Given the description of an element on the screen output the (x, y) to click on. 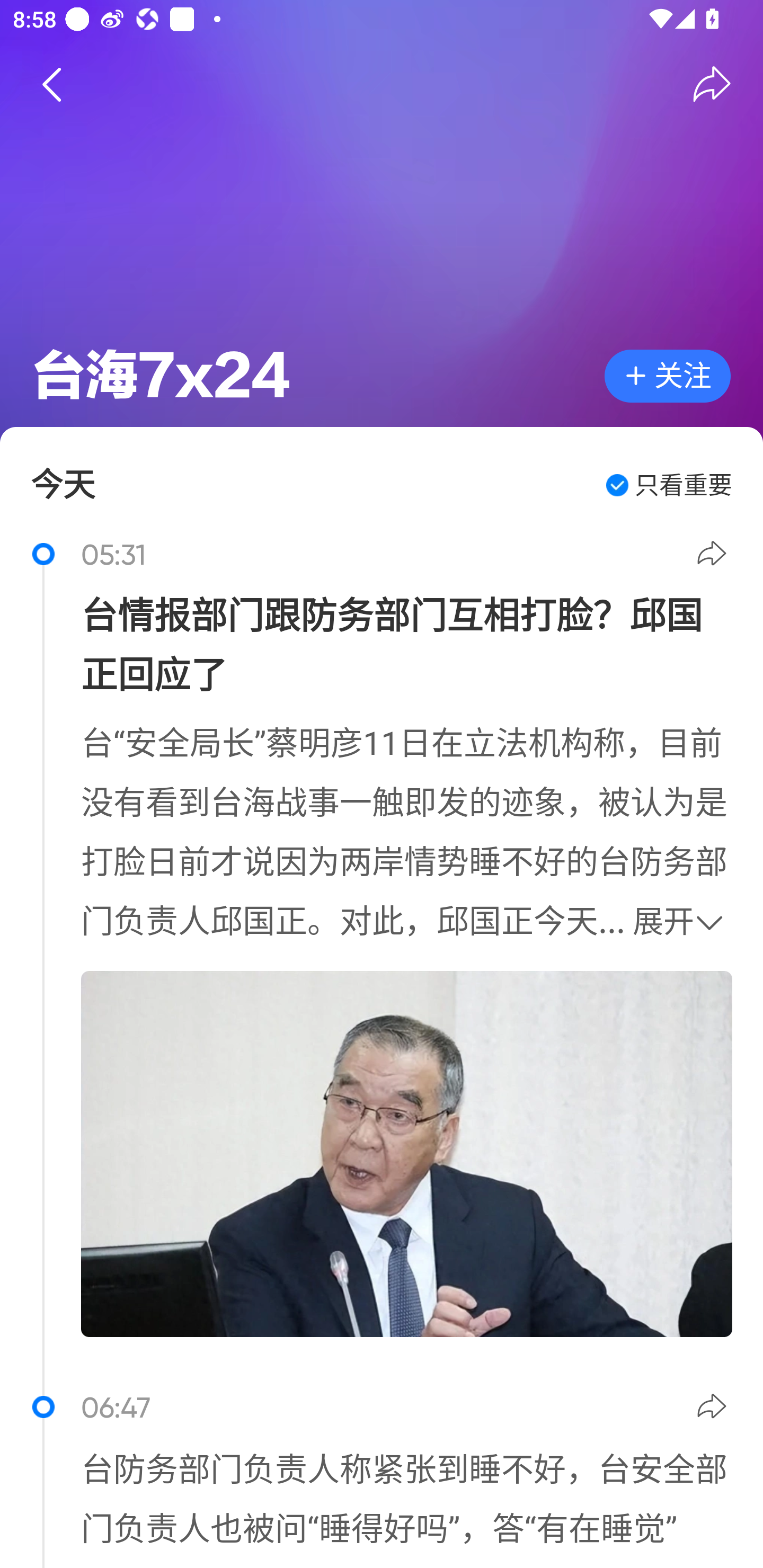
 (50, 83)
 (711, 83)
 关注 (667, 375)
只看重要 (668, 485)
 (713, 556)
 (713, 1409)
